Given the description of an element on the screen output the (x, y) to click on. 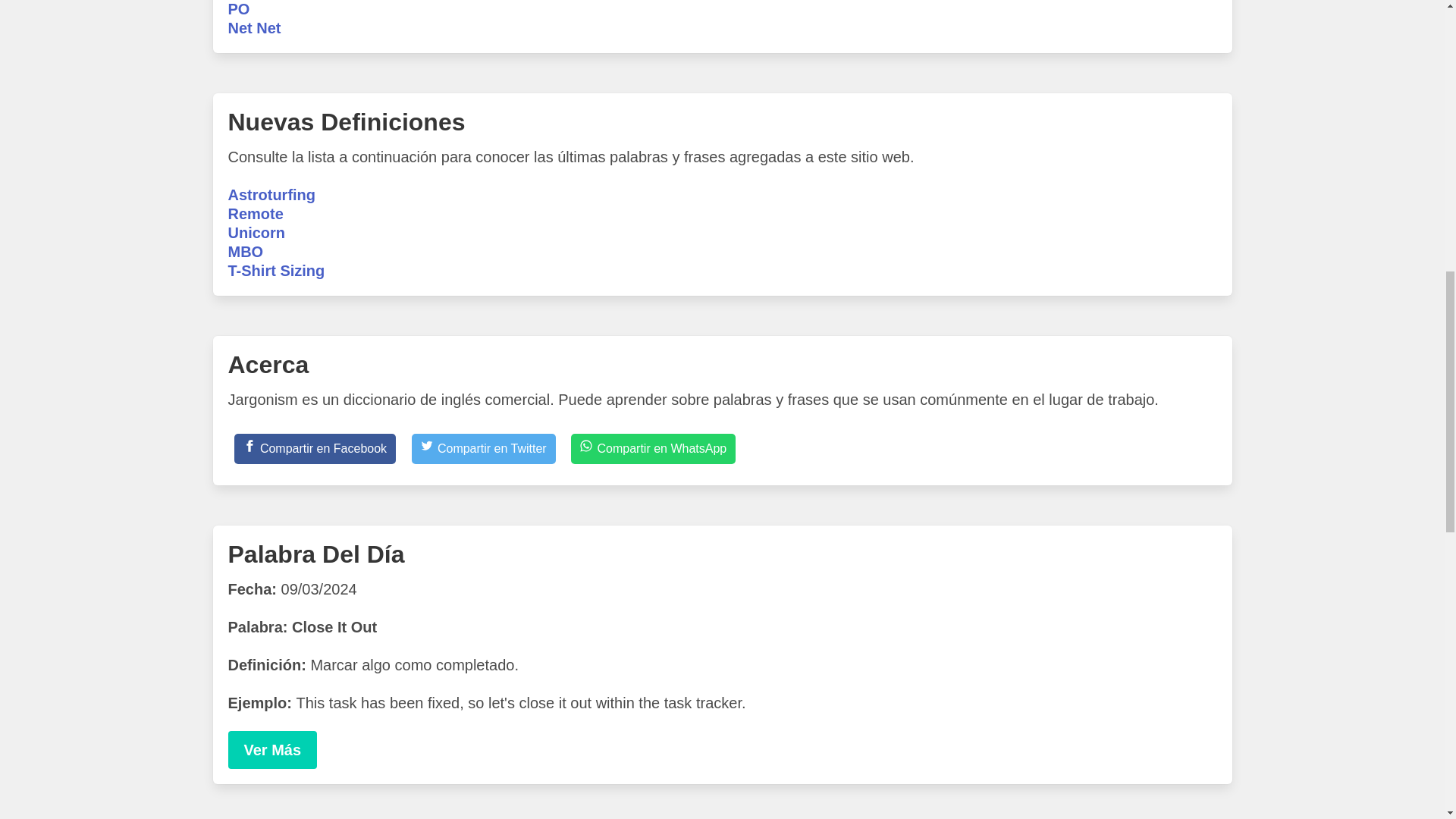
Net Net (254, 27)
MBO (245, 251)
Unicorn (256, 232)
PO (237, 8)
Astroturfing (271, 194)
Remote (254, 213)
Compartir en WhatsApp (652, 449)
T-Shirt Sizing (275, 270)
Compartir en Facebook (314, 449)
Compartir en Twitter (484, 449)
